Given the description of an element on the screen output the (x, y) to click on. 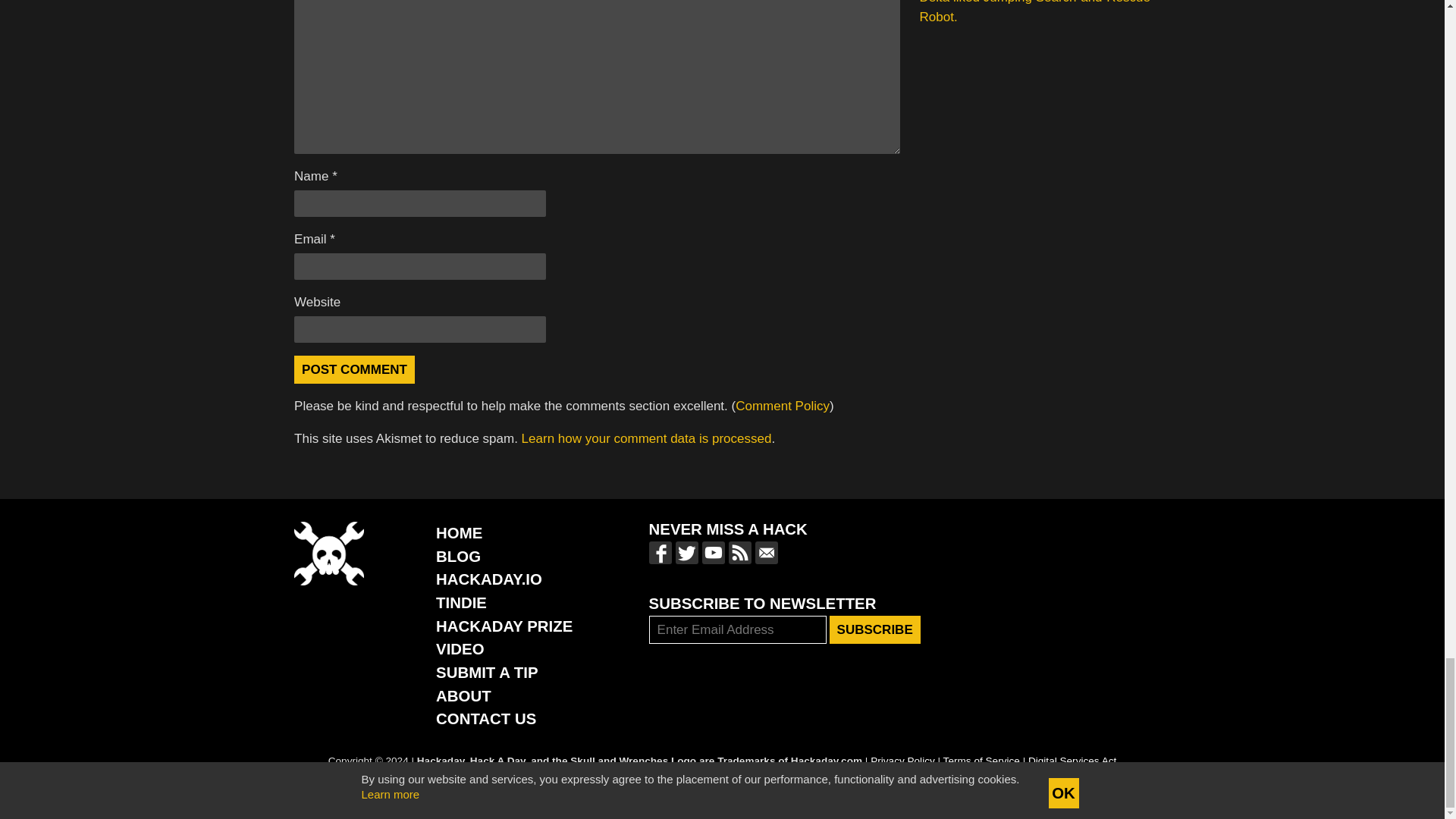
Build Something that Matters (503, 626)
Post Comment (354, 369)
Subscribe (874, 629)
